Given the description of an element on the screen output the (x, y) to click on. 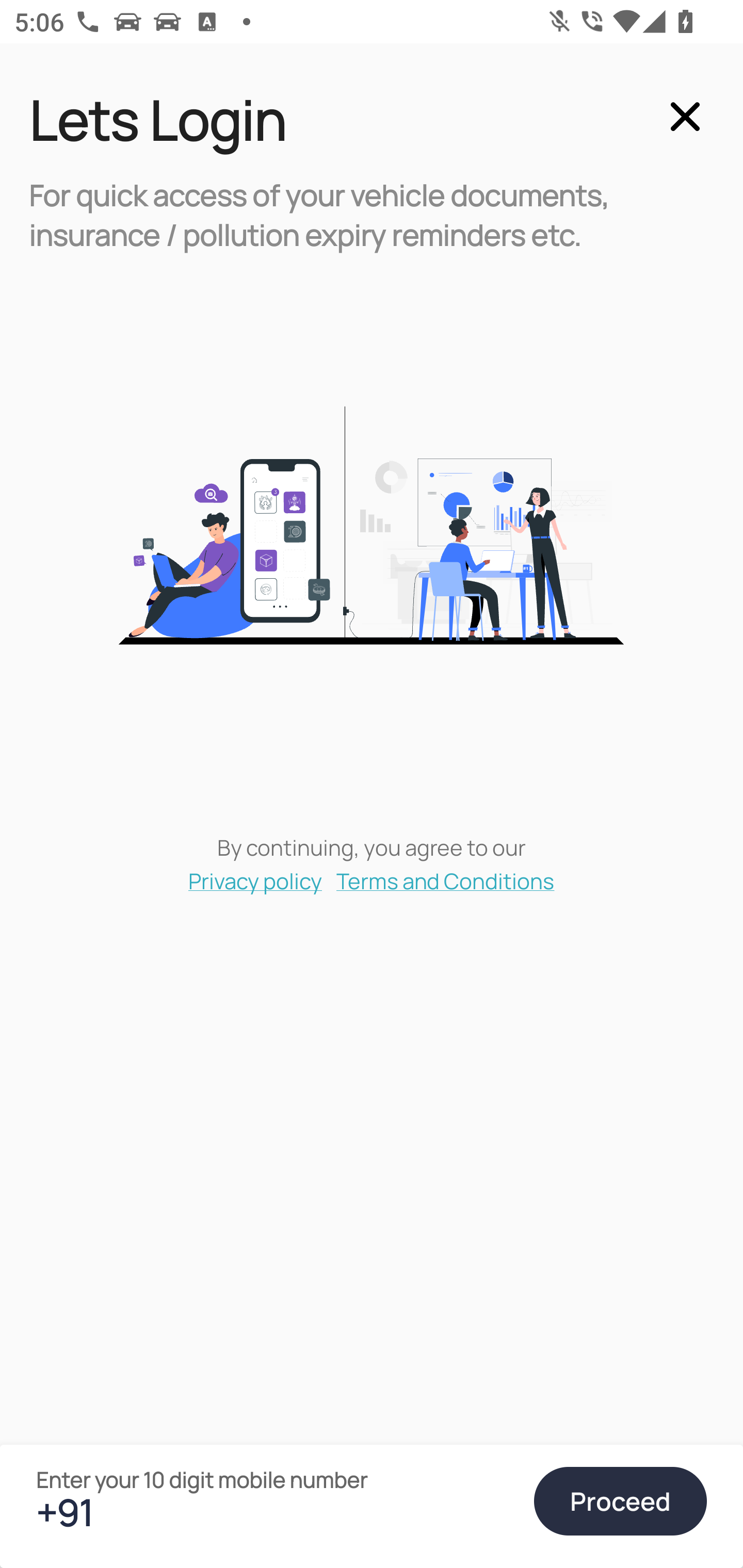
Privacy policy (254, 880)
Terms and Conditions (445, 880)
Proceed (620, 1501)
Enter your 10 digit mobile number (275, 1512)
